Given the description of an element on the screen output the (x, y) to click on. 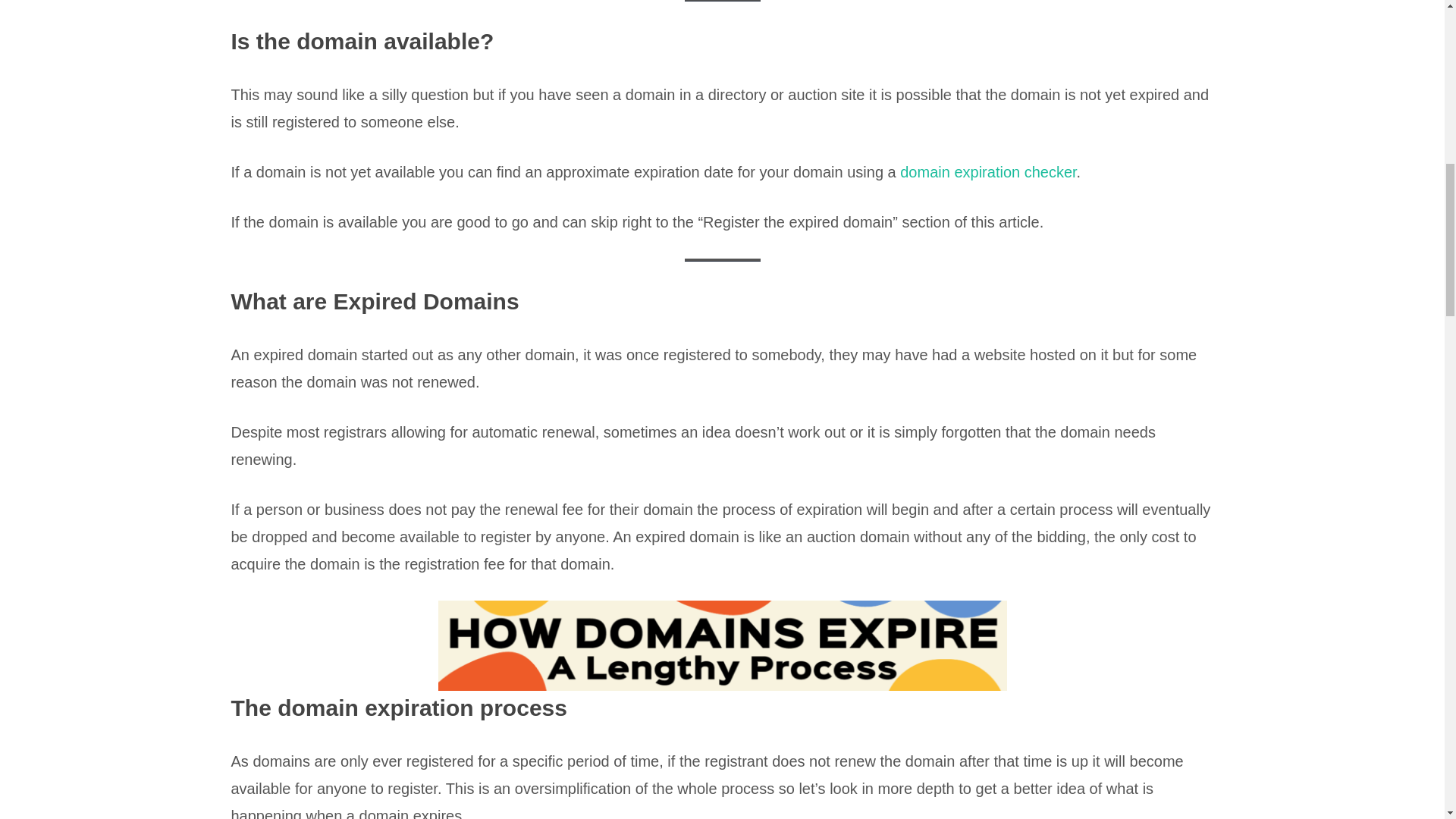
domain expiration checker (987, 171)
